Given the description of an element on the screen output the (x, y) to click on. 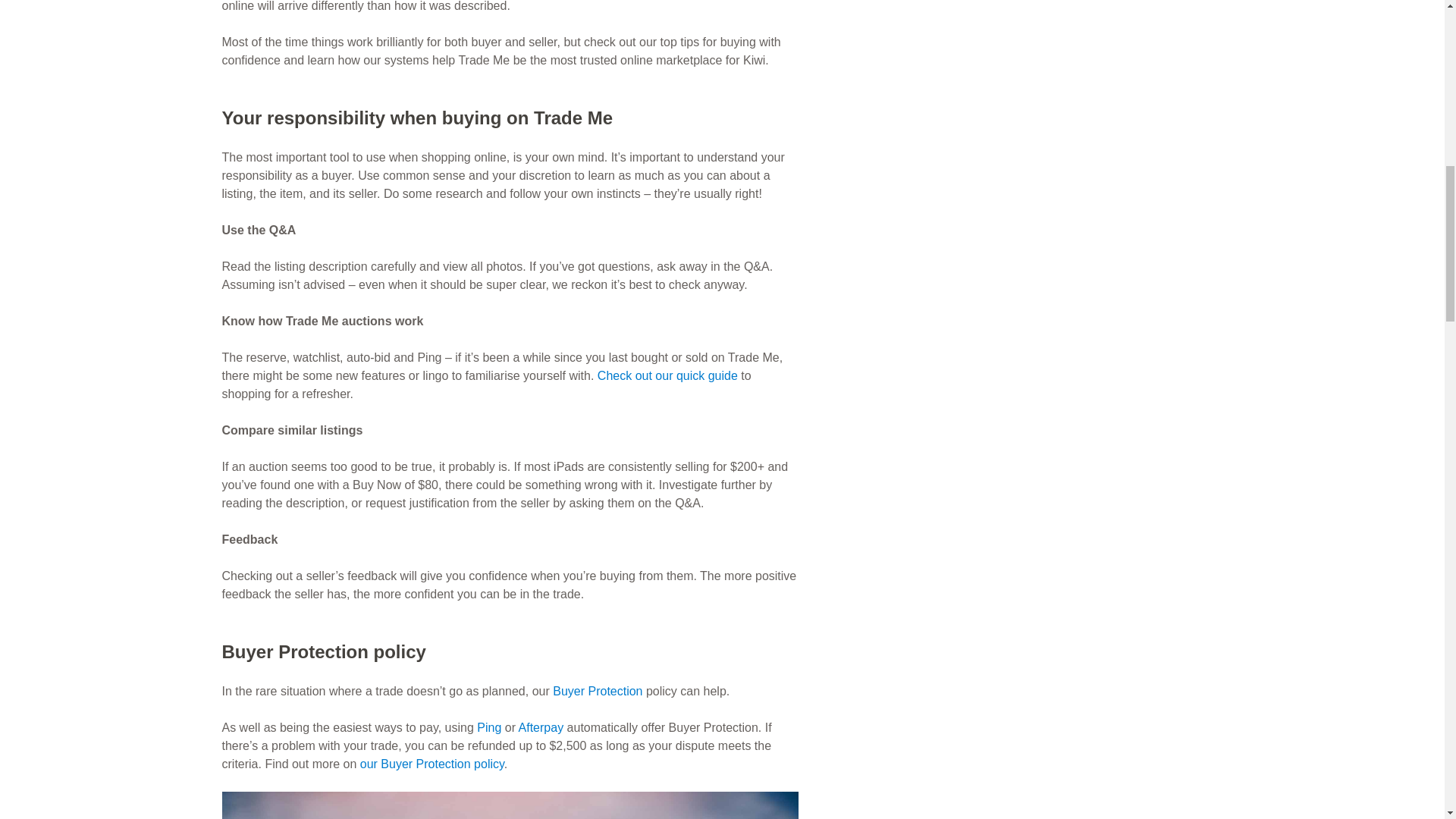
our Buyer Protection policy (431, 763)
Check out our quick guide (667, 375)
Ping (488, 727)
Afterpay (541, 727)
Buyer Protection (597, 690)
